Given the description of an element on the screen output the (x, y) to click on. 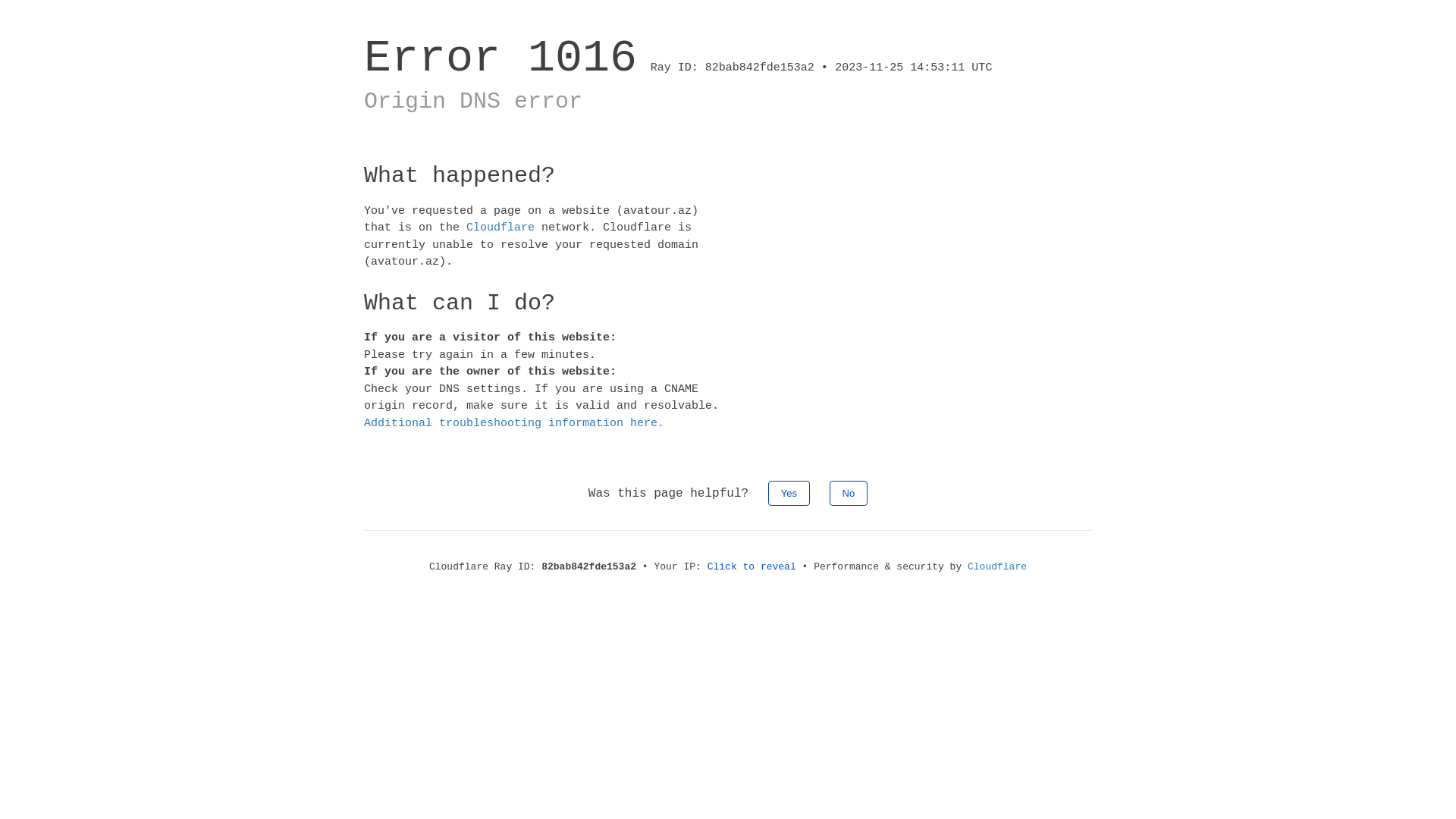
Yes Element type: text (788, 492)
Click to reveal Element type: text (751, 566)
No Element type: text (848, 492)
Cloudflare Element type: text (500, 227)
Additional troubleshooting information here. Element type: text (514, 423)
Cloudflare Element type: text (996, 566)
